Given the description of an element on the screen output the (x, y) to click on. 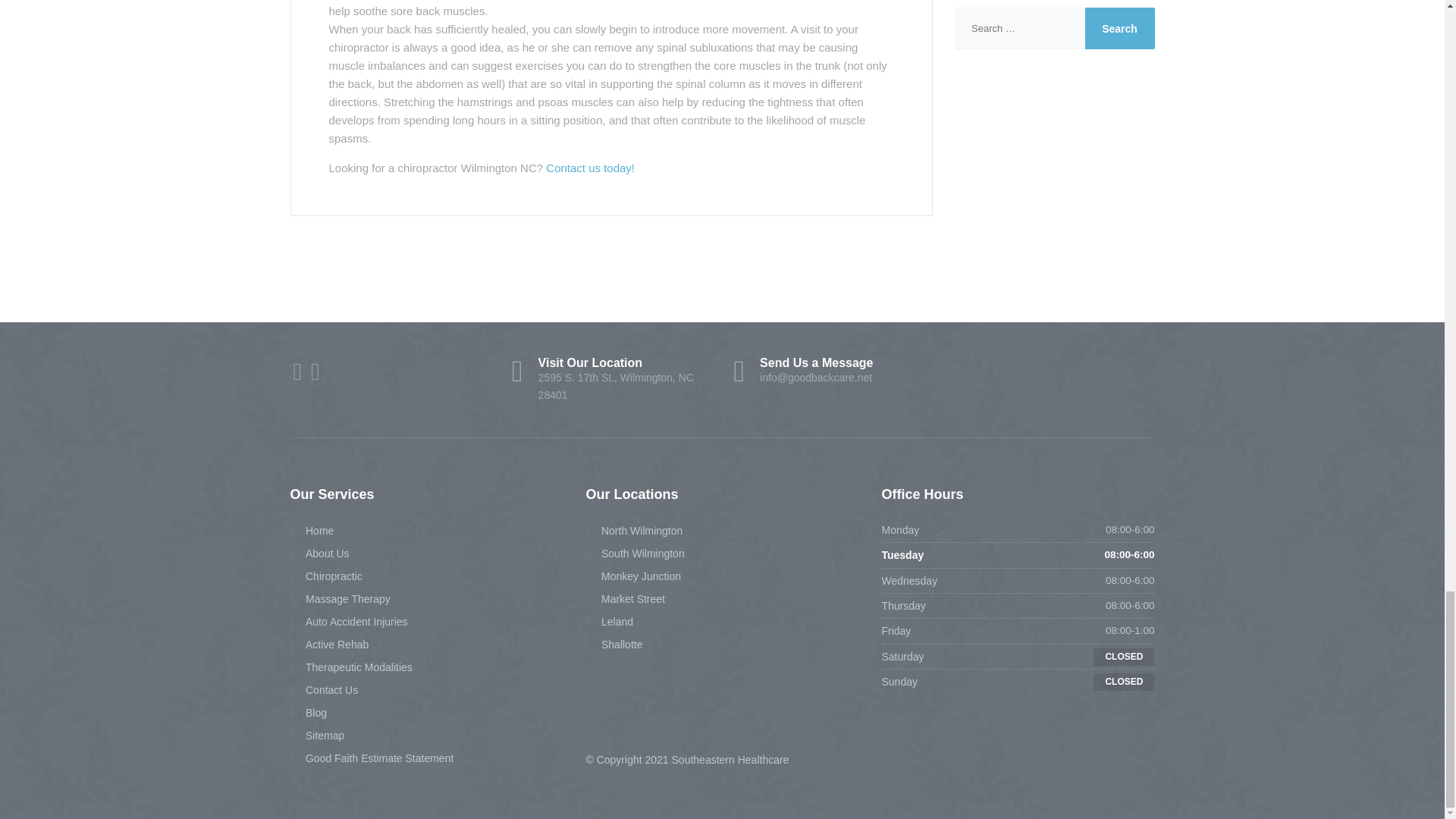
Search (1119, 28)
Search (1119, 28)
